Given the description of an element on the screen output the (x, y) to click on. 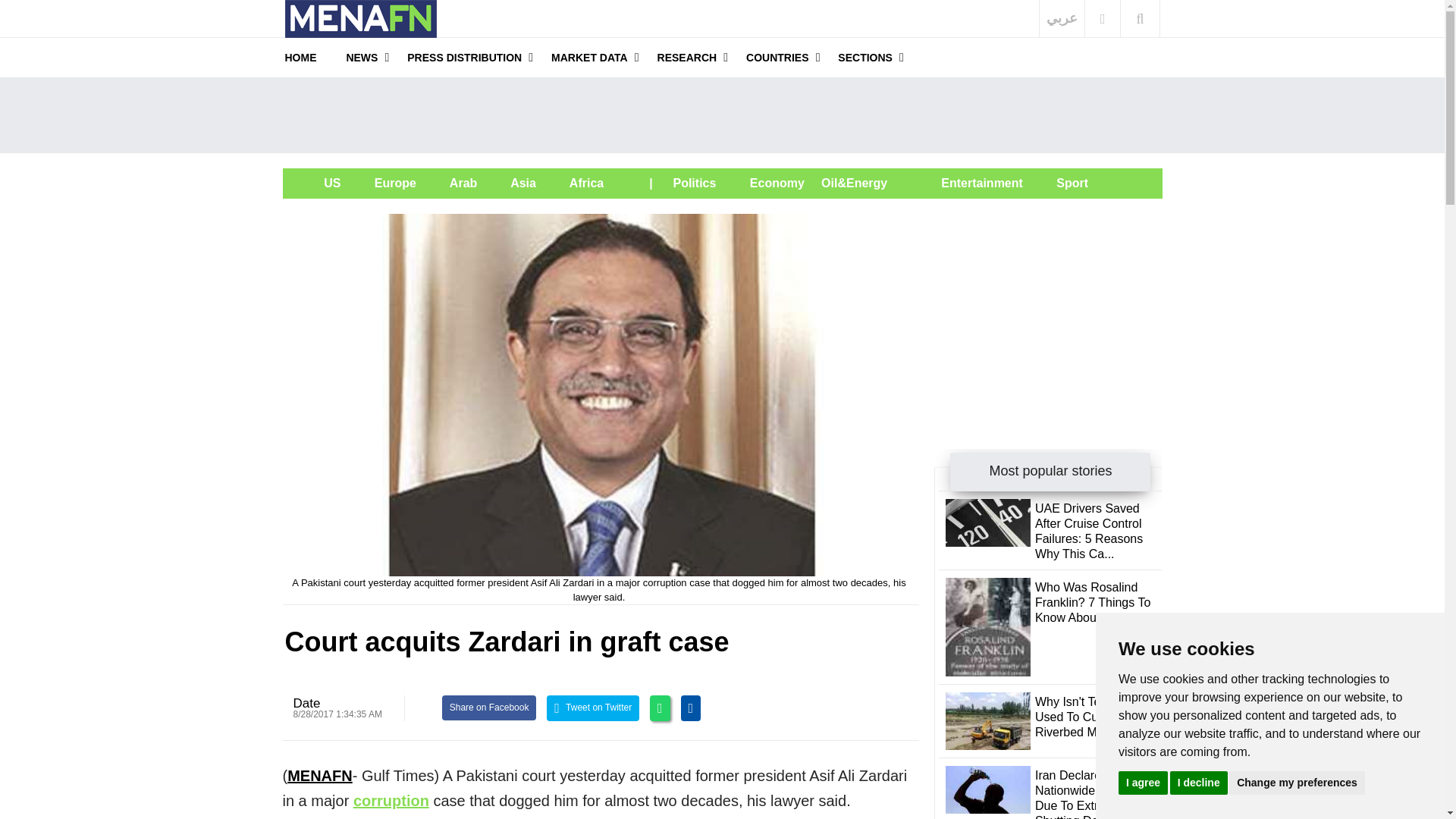
Advertisement (721, 115)
I agree (1142, 781)
Posts by NewEdge (306, 703)
MARKET DATA (589, 56)
I decline (1198, 781)
PRESS DISTRIBUTION (464, 56)
Change my preferences (1296, 781)
Advertisement (1047, 308)
